Given the description of an element on the screen output the (x, y) to click on. 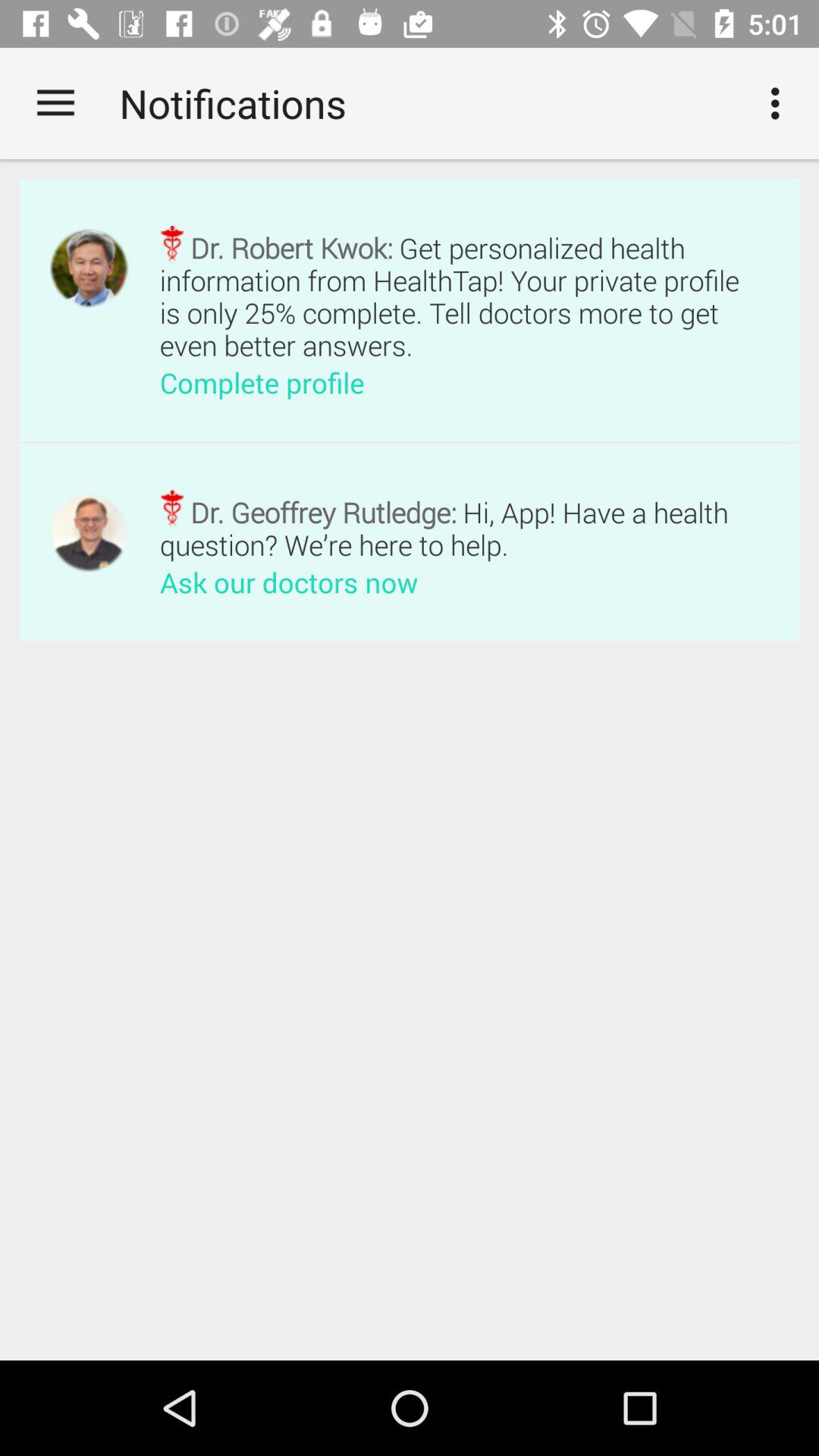
select item next to notifications item (55, 103)
